Given the description of an element on the screen output the (x, y) to click on. 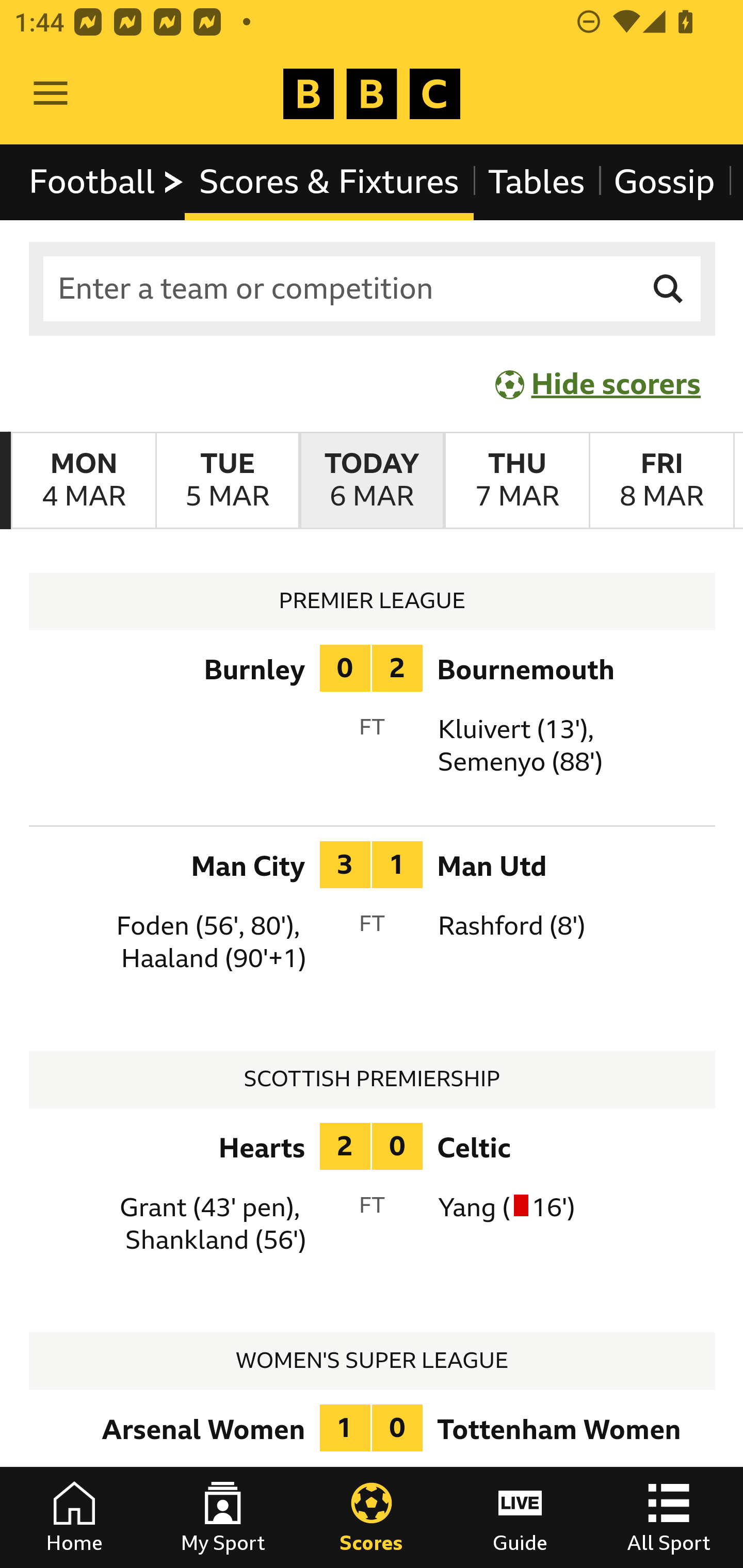
Open Menu (50, 93)
Football  (106, 181)
Scores & Fixtures (329, 181)
Tables (536, 181)
Gossip (664, 181)
Search (669, 289)
Hide scorers (598, 383)
MondayMarch 4th Monday March 4th (83, 480)
TuesdayMarch 5th Tuesday March 5th (227, 480)
TodayMarch 6th Today March 6th (371, 480)
ThursdayMarch 7th Thursday March 7th (516, 480)
FridayMarch 8th Friday March 8th (661, 480)
Home (74, 1517)
My Sport (222, 1517)
Guide (519, 1517)
All Sport (668, 1517)
